Given the description of an element on the screen output the (x, y) to click on. 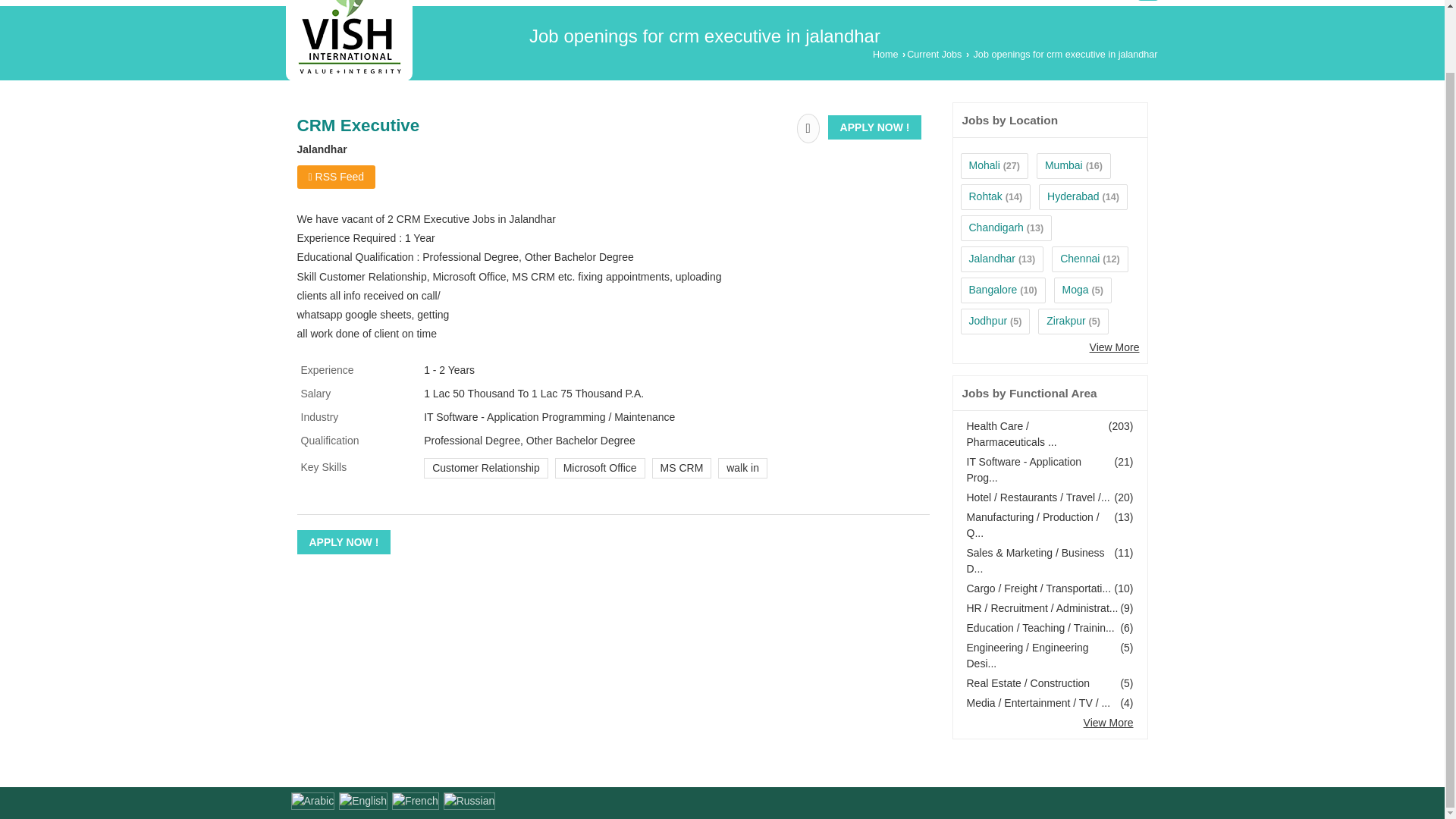
Mumbai (1064, 164)
APPLY NOW ! (874, 127)
APPLY NOW ! (874, 127)
RSS Feed (336, 177)
APPLY NOW ! (344, 541)
Home (885, 54)
APPLY NOW ! (344, 541)
Mohali (984, 164)
Rohtak (986, 196)
